Given the description of an element on the screen output the (x, y) to click on. 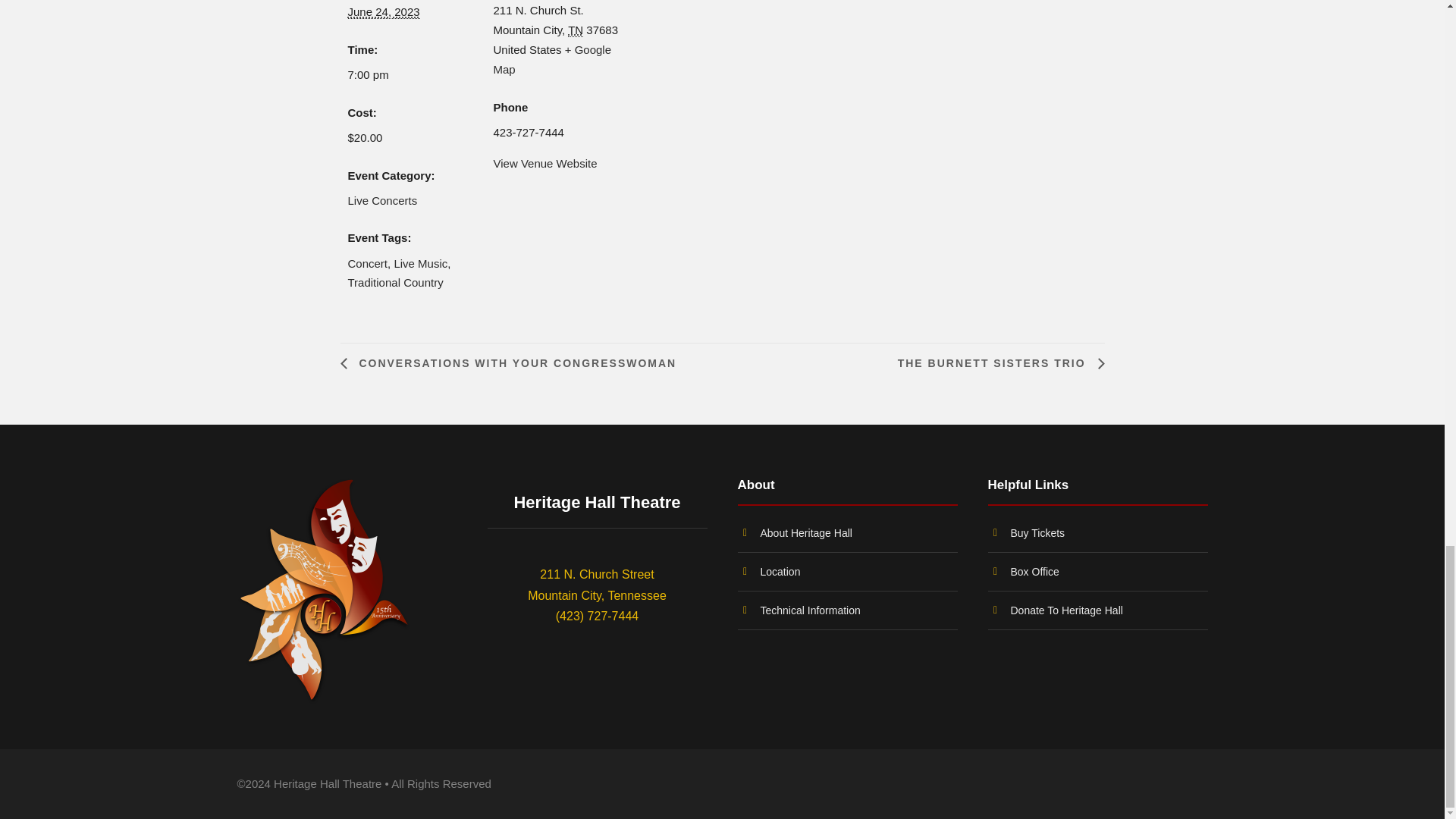
Tennessee (575, 29)
2023-06-24 (410, 75)
2023-06-24 (383, 11)
Click to view a Google Map (552, 59)
